Given the description of an element on the screen output the (x, y) to click on. 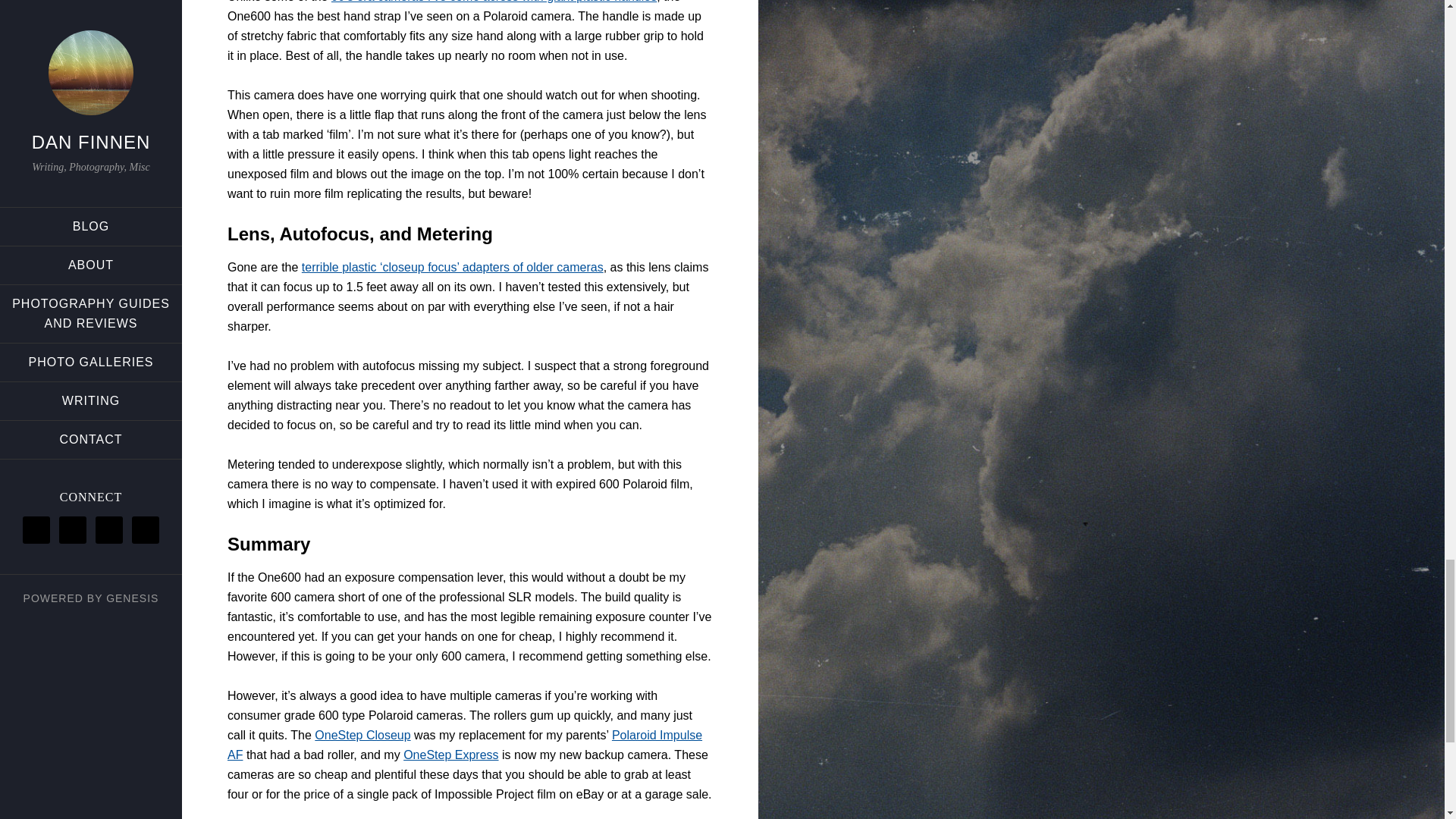
Polaroid Impulse AF (464, 744)
OneStep Express (450, 754)
OneStep Closeup (362, 735)
